Given the description of an element on the screen output the (x, y) to click on. 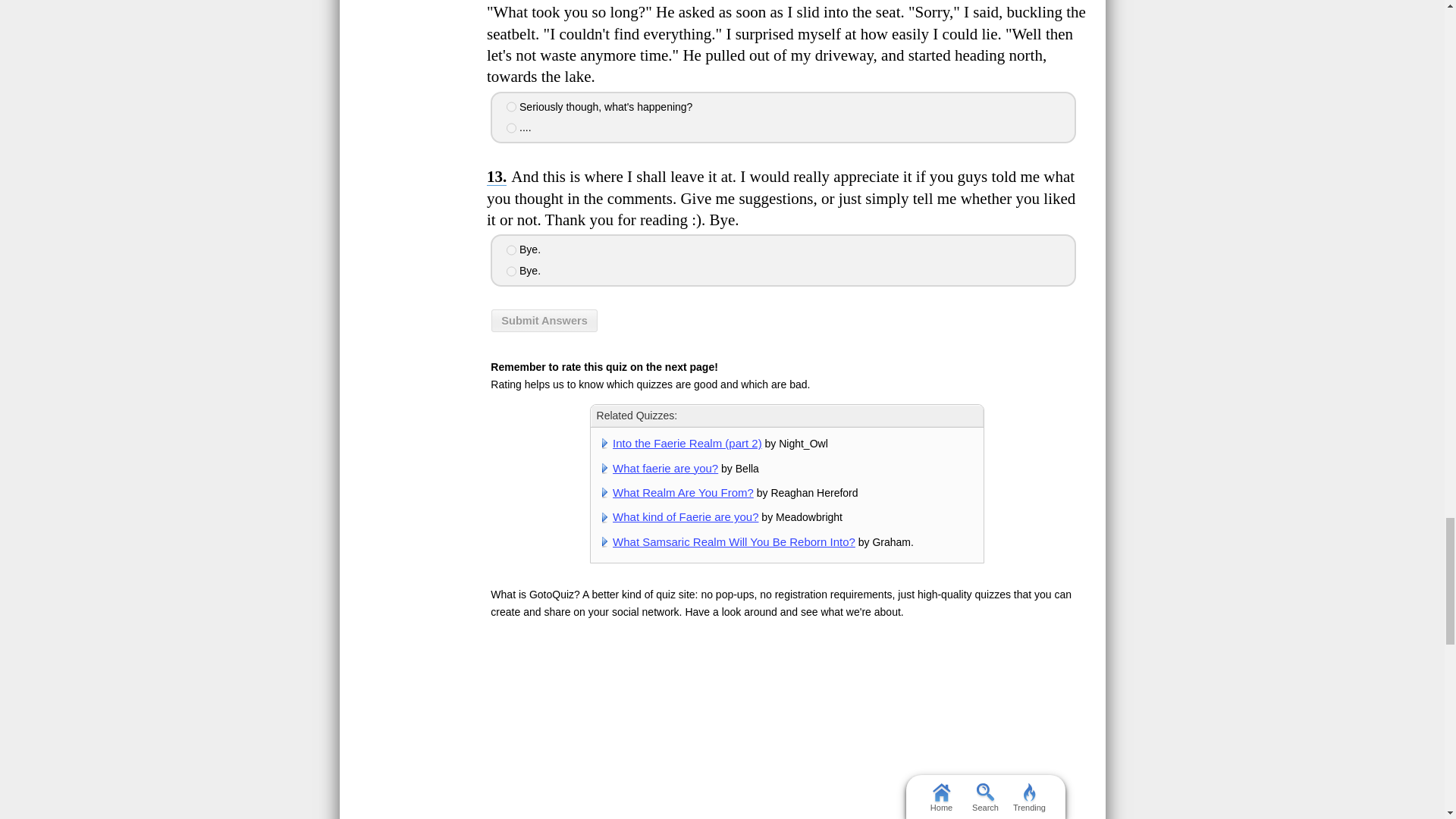
What Samsaric Realm Will You Be Reborn Into? (734, 541)
What kind of Faerie are you? (685, 516)
What faerie are you? (664, 467)
What Realm Are You From? (683, 492)
Submit Answers (544, 320)
